Given the description of an element on the screen output the (x, y) to click on. 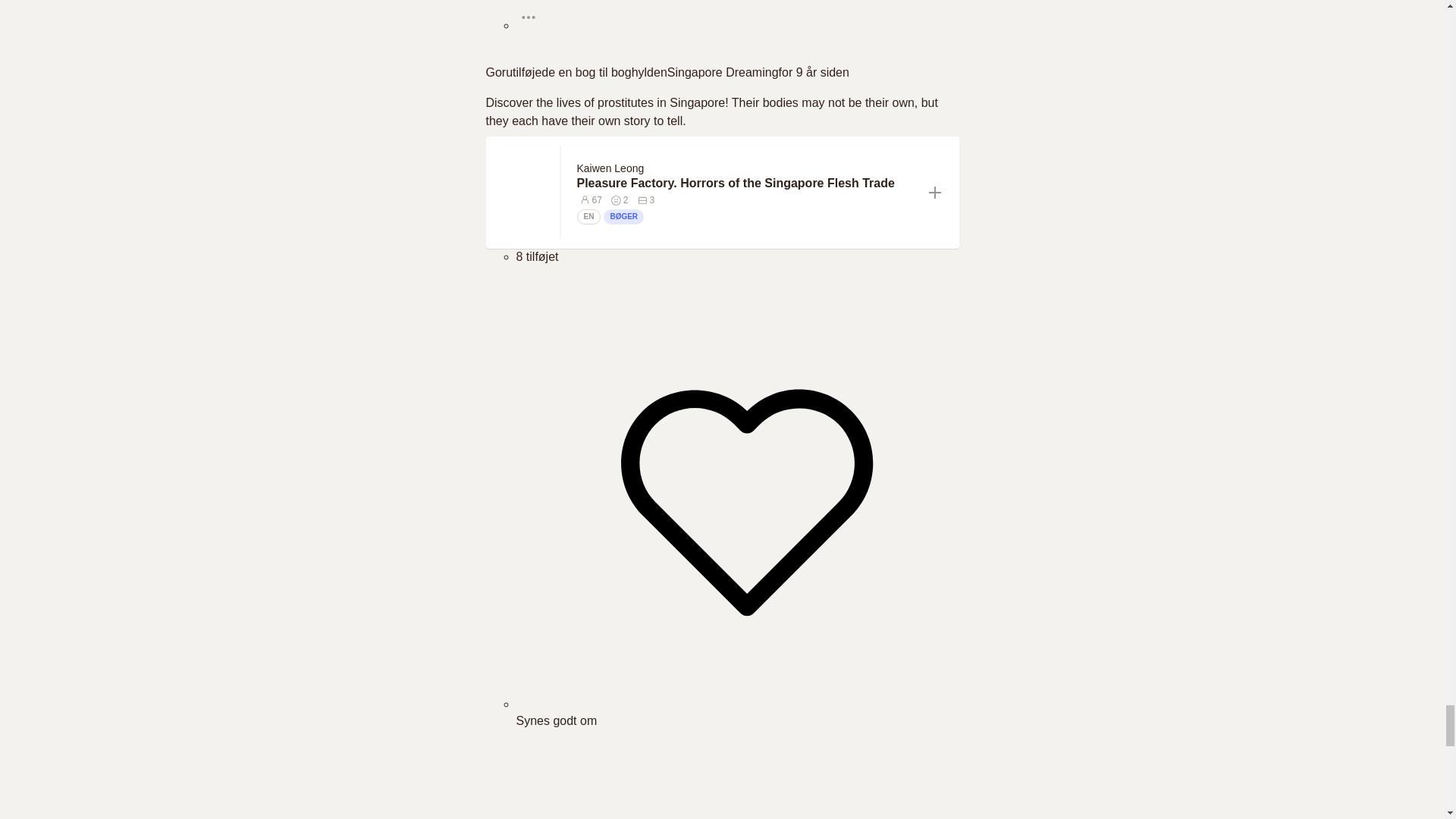
Kaiwen Leong (609, 168)
Singapore Dreaming (722, 72)
